Given the description of an element on the screen output the (x, y) to click on. 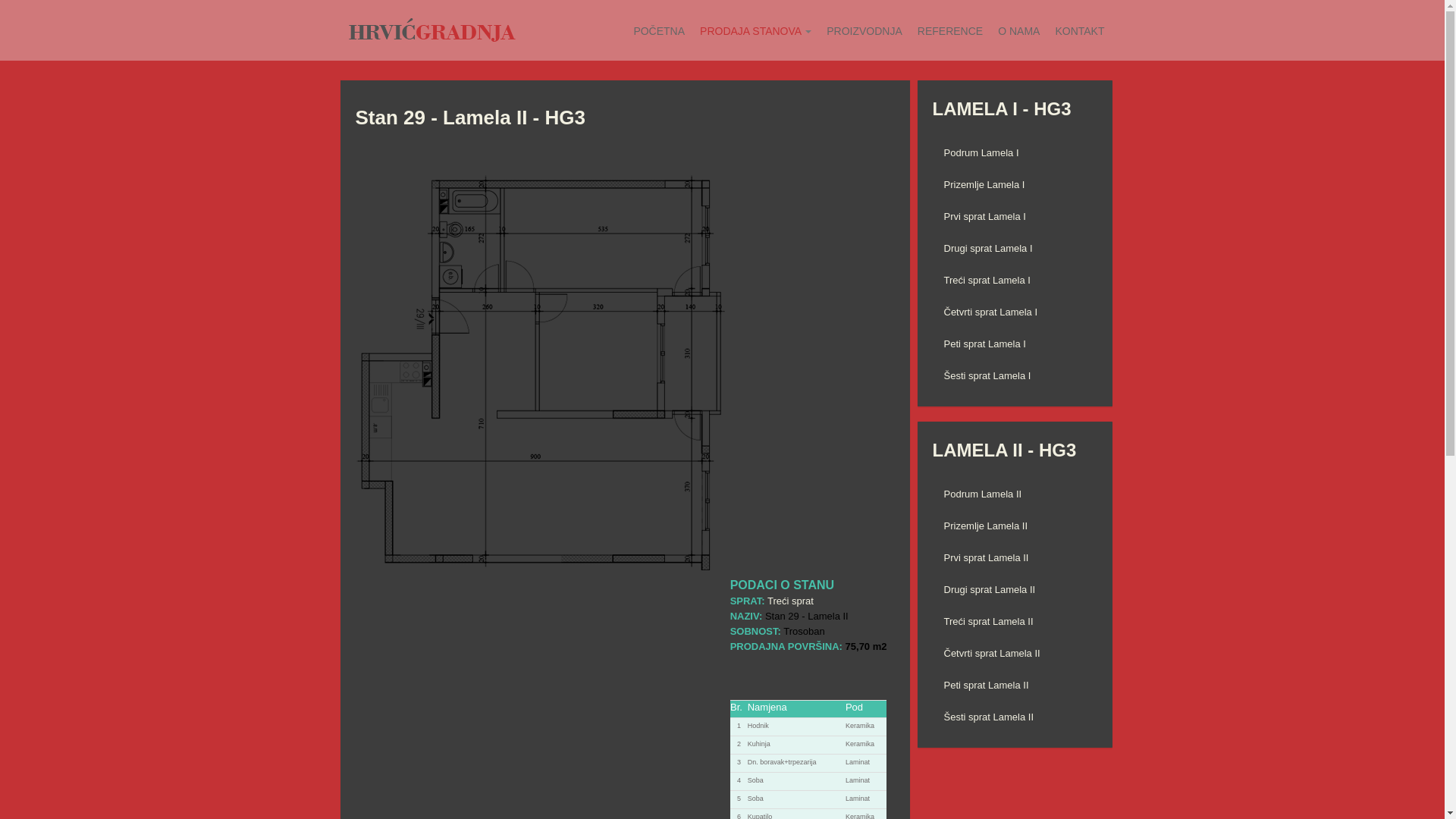
Peti sprat Lamela I Element type: text (1014, 344)
KONTAKT Element type: text (1071, 30)
Peti sprat Lamela II Element type: text (1014, 685)
Podrum Lamela I Element type: text (1014, 153)
O NAMA Element type: text (1010, 30)
Drugi sprat Lamela I Element type: text (1014, 248)
Prvi sprat Lamela II Element type: text (1014, 557)
REFERENCE Element type: text (942, 30)
Prizemlje Lamela II Element type: text (1014, 526)
Prizemlje Lamela I Element type: text (1014, 184)
Prvi sprat Lamela I Element type: text (1014, 216)
PRODAJA STANOVA Element type: text (747, 30)
PROIZVODNJA Element type: text (856, 30)
Podrum Lamela II Element type: text (1014, 494)
Drugi sprat Lamela II Element type: text (1014, 589)
